Given the description of an element on the screen output the (x, y) to click on. 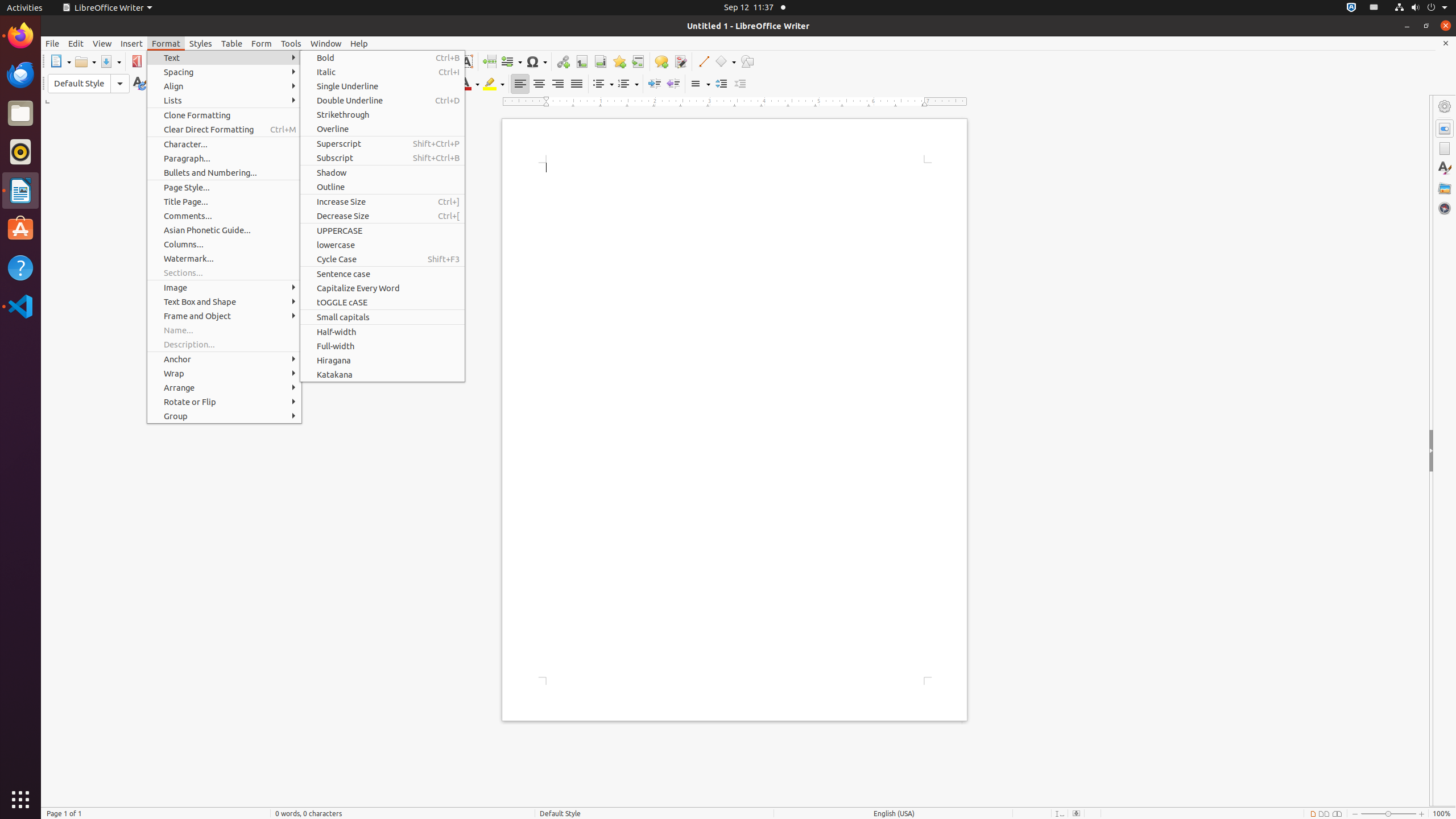
Ubuntu Software Element type: push-button (20, 229)
Text Element type: menu (224, 57)
Line Spacing Element type: push-button (699, 83)
Subscript Element type: toggle-button (418, 83)
Comment Element type: push-button (660, 61)
